Given the description of an element on the screen output the (x, y) to click on. 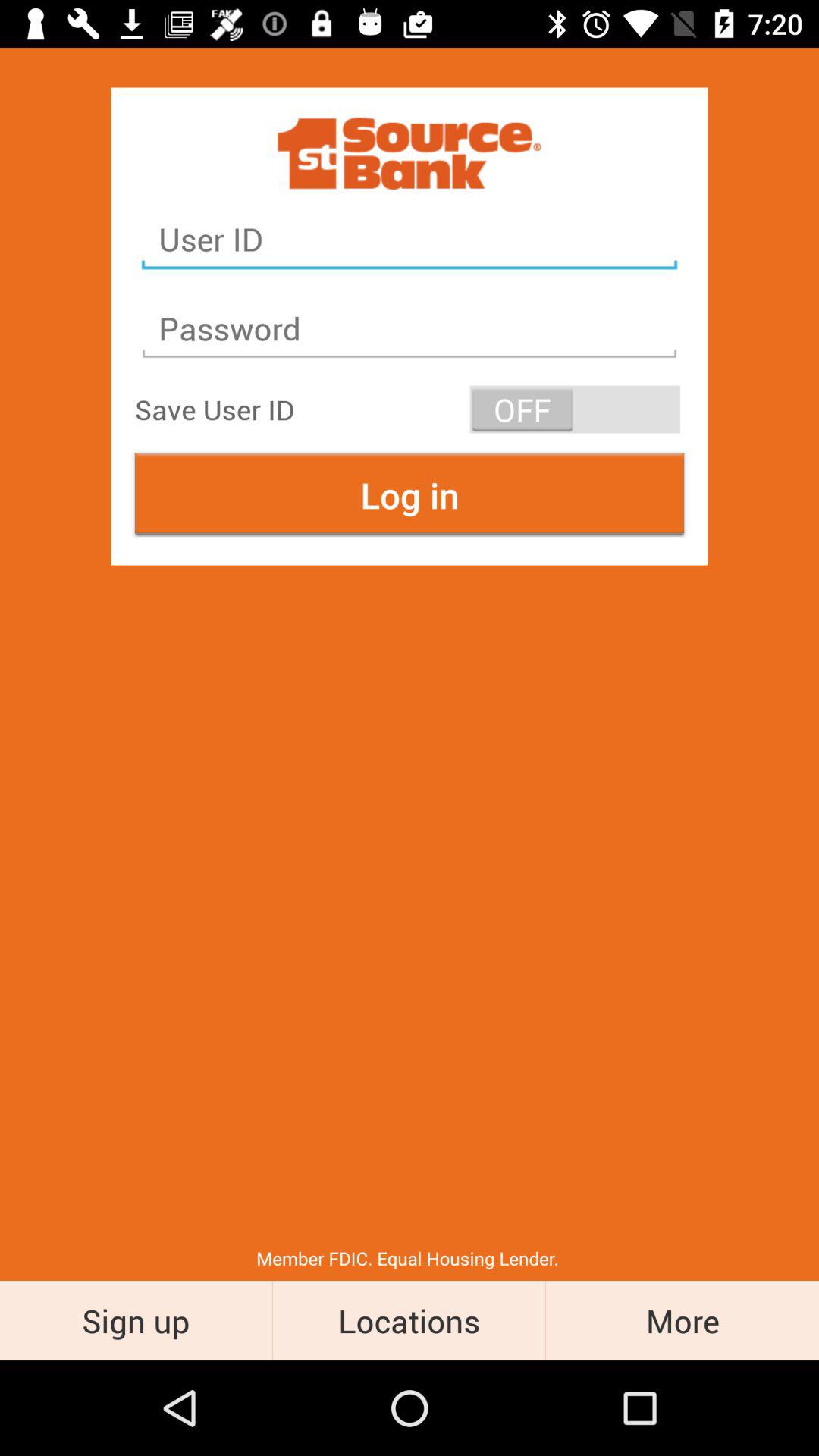
press the more icon (682, 1320)
